Given the description of an element on the screen output the (x, y) to click on. 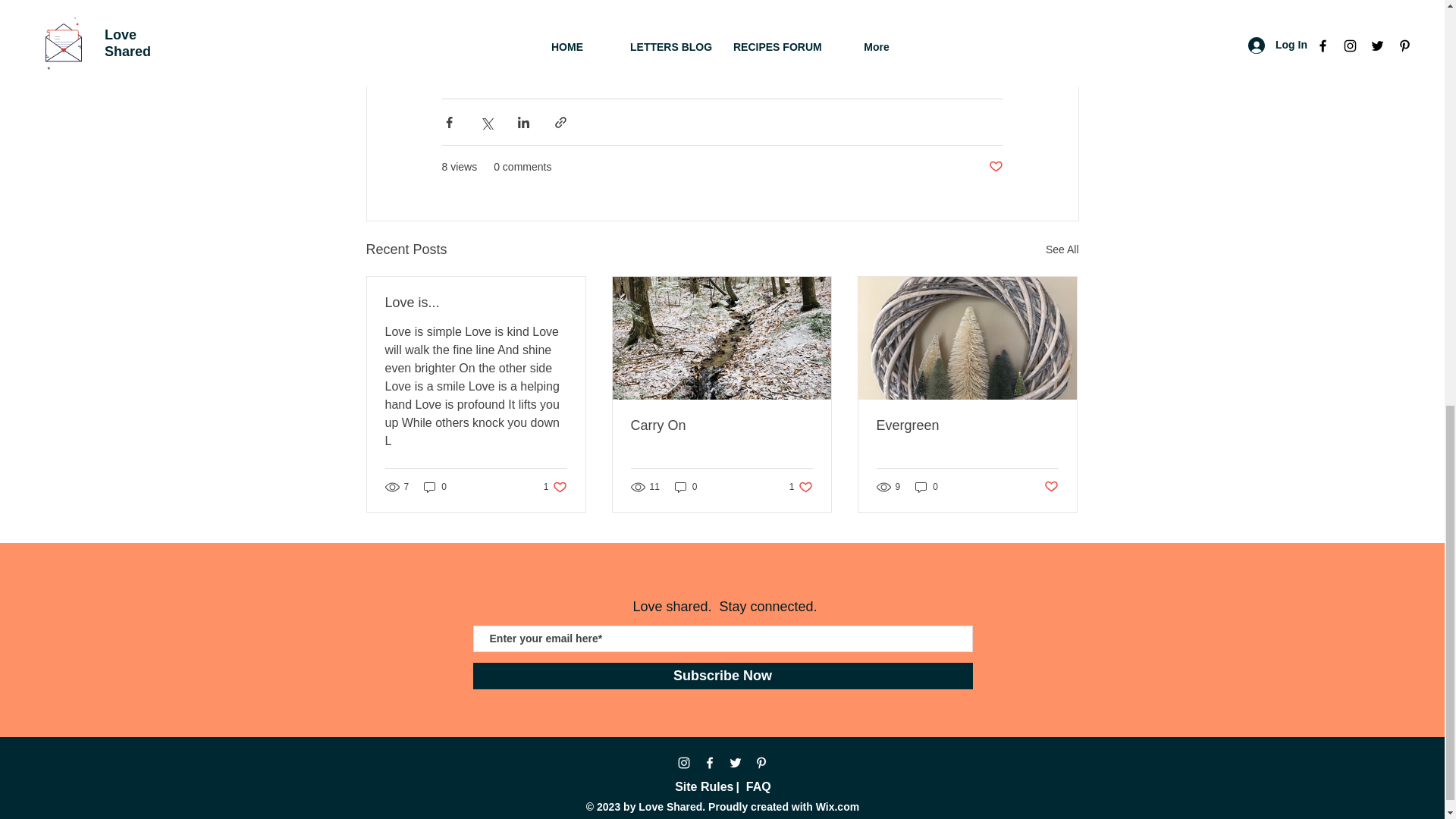
Carry On (721, 425)
Post not marked as liked (995, 166)
Evergreen (967, 425)
Post not marked as liked (1050, 487)
Site Rules (704, 786)
0 (555, 486)
See All (926, 486)
Love is... (1061, 250)
0 (476, 302)
0 (800, 486)
Subscribe Now (685, 486)
